Given the description of an element on the screen output the (x, y) to click on. 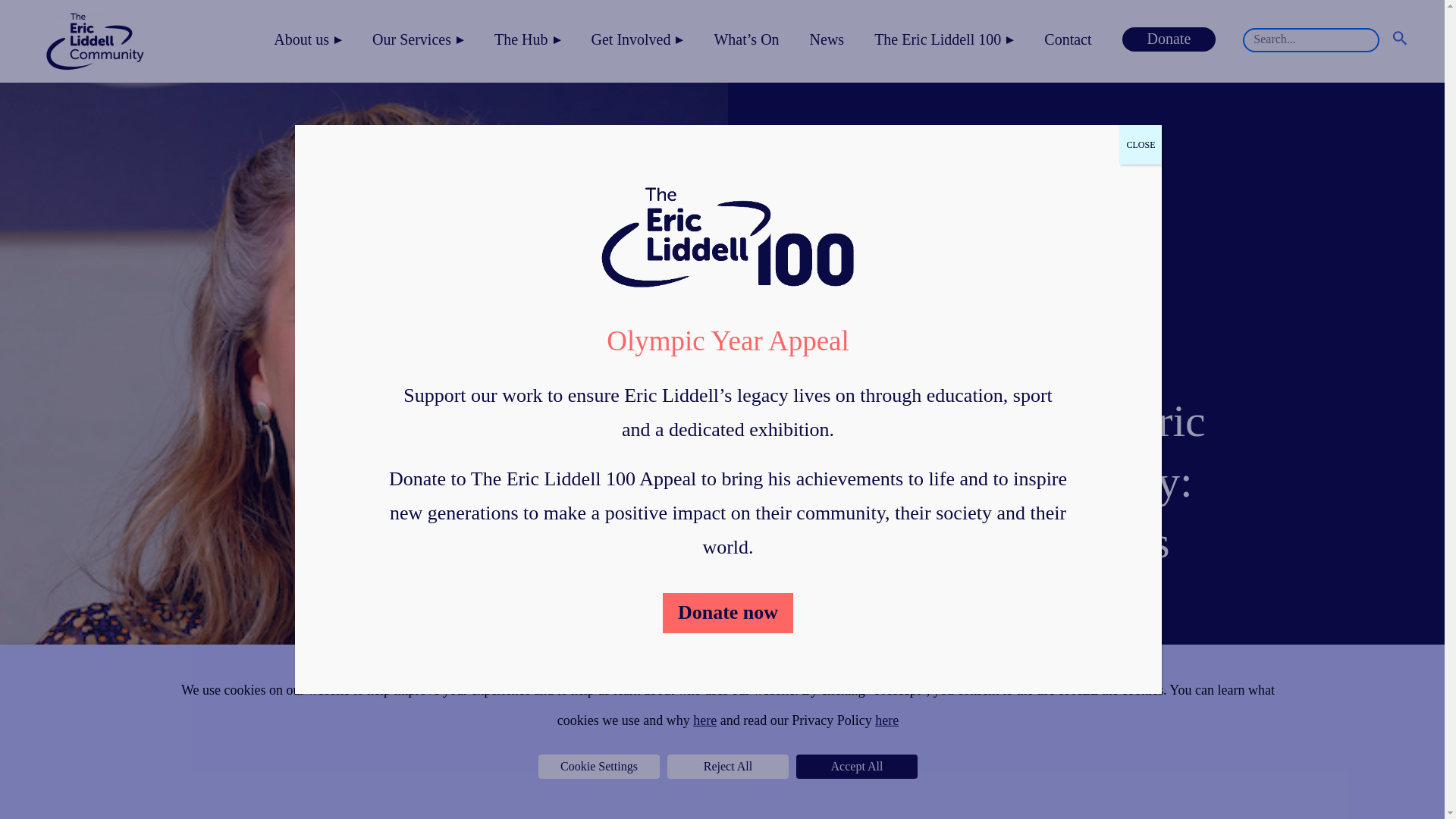
Link to the About us page (307, 39)
Contact (1067, 39)
The Eric Liddell 100 (944, 39)
News (827, 39)
Donate (1168, 39)
Get Involved (637, 39)
Link to the Our services page (417, 39)
Our Services (417, 39)
Link to the Community hub page (527, 39)
About us (307, 39)
